Given the description of an element on the screen output the (x, y) to click on. 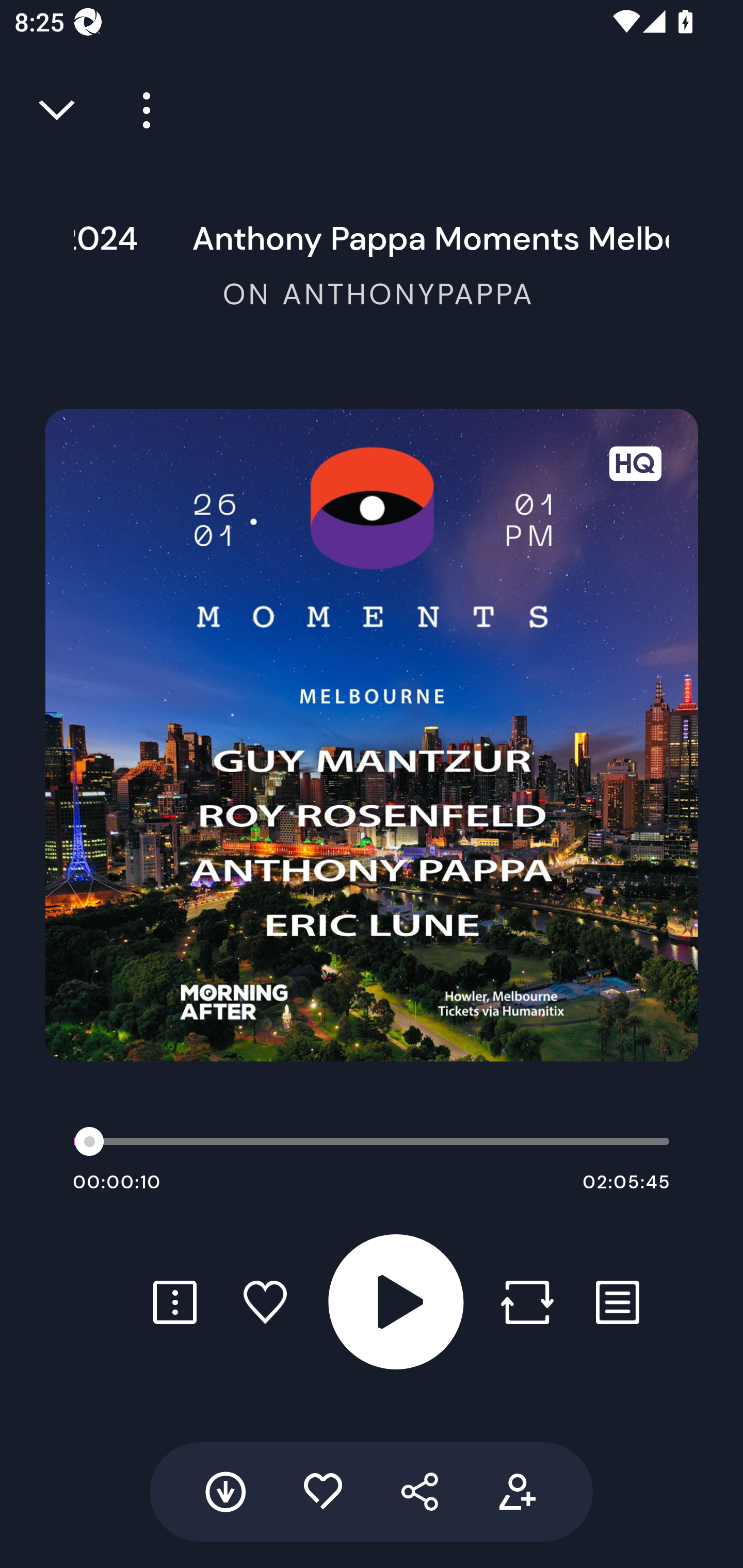
Close full player (58, 110)
Player more options button (139, 110)
Repost button (527, 1301)
